Given the description of an element on the screen output the (x, y) to click on. 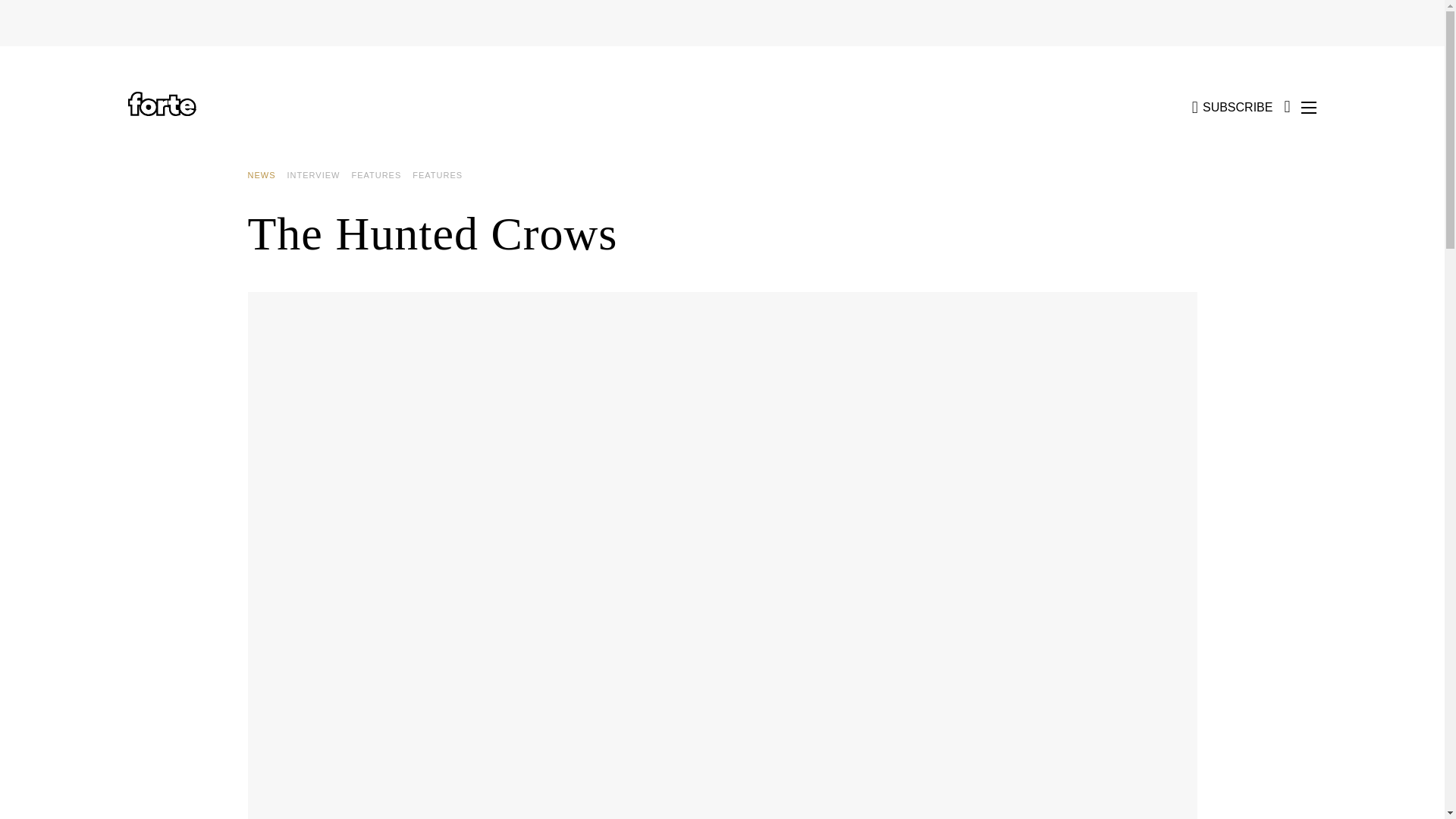
NEWS (266, 175)
FEATURES (381, 175)
FEATURES (443, 175)
INTERVIEW (318, 175)
